Given the description of an element on the screen output the (x, y) to click on. 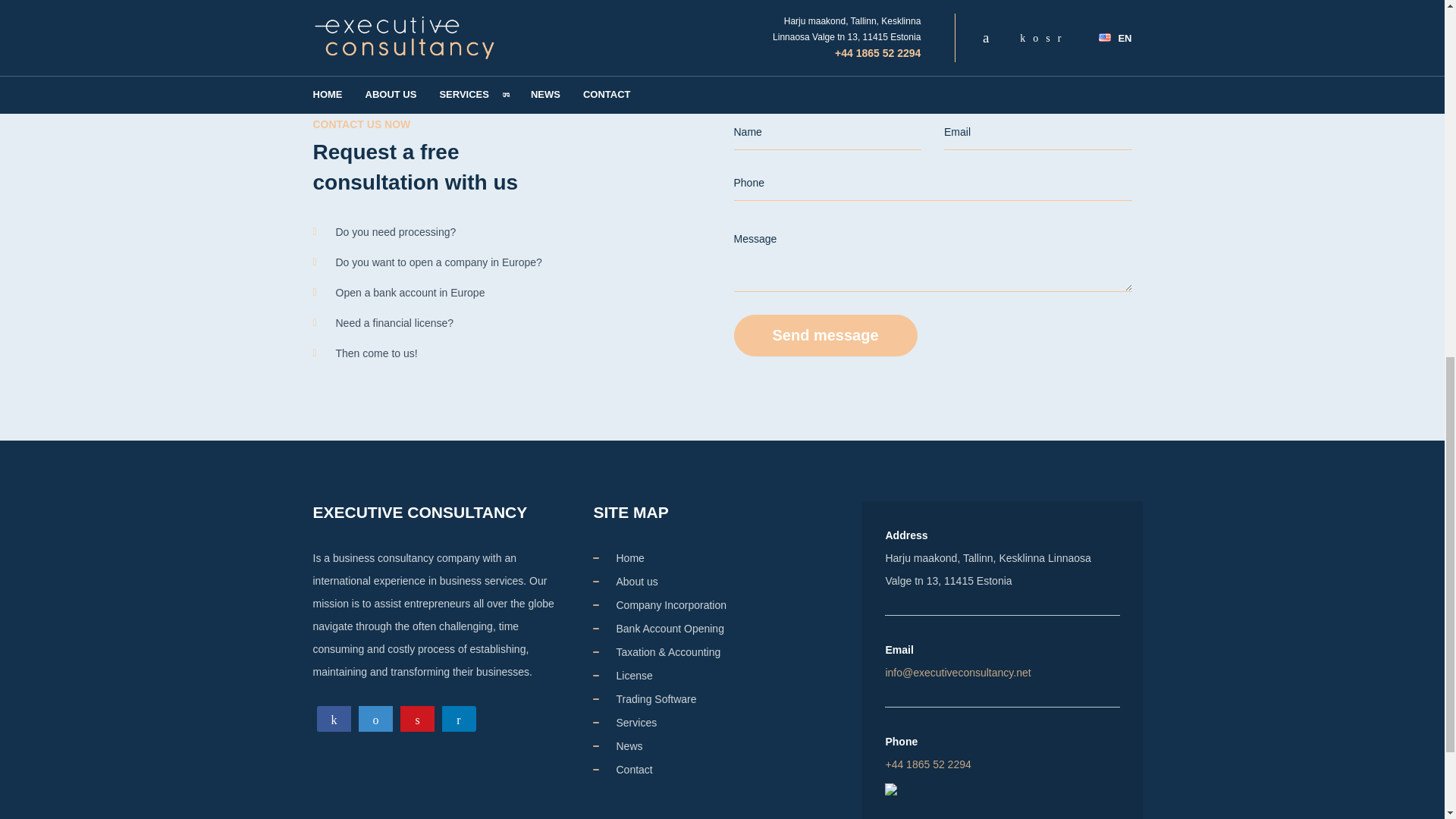
Send message (825, 335)
